Given the description of an element on the screen output the (x, y) to click on. 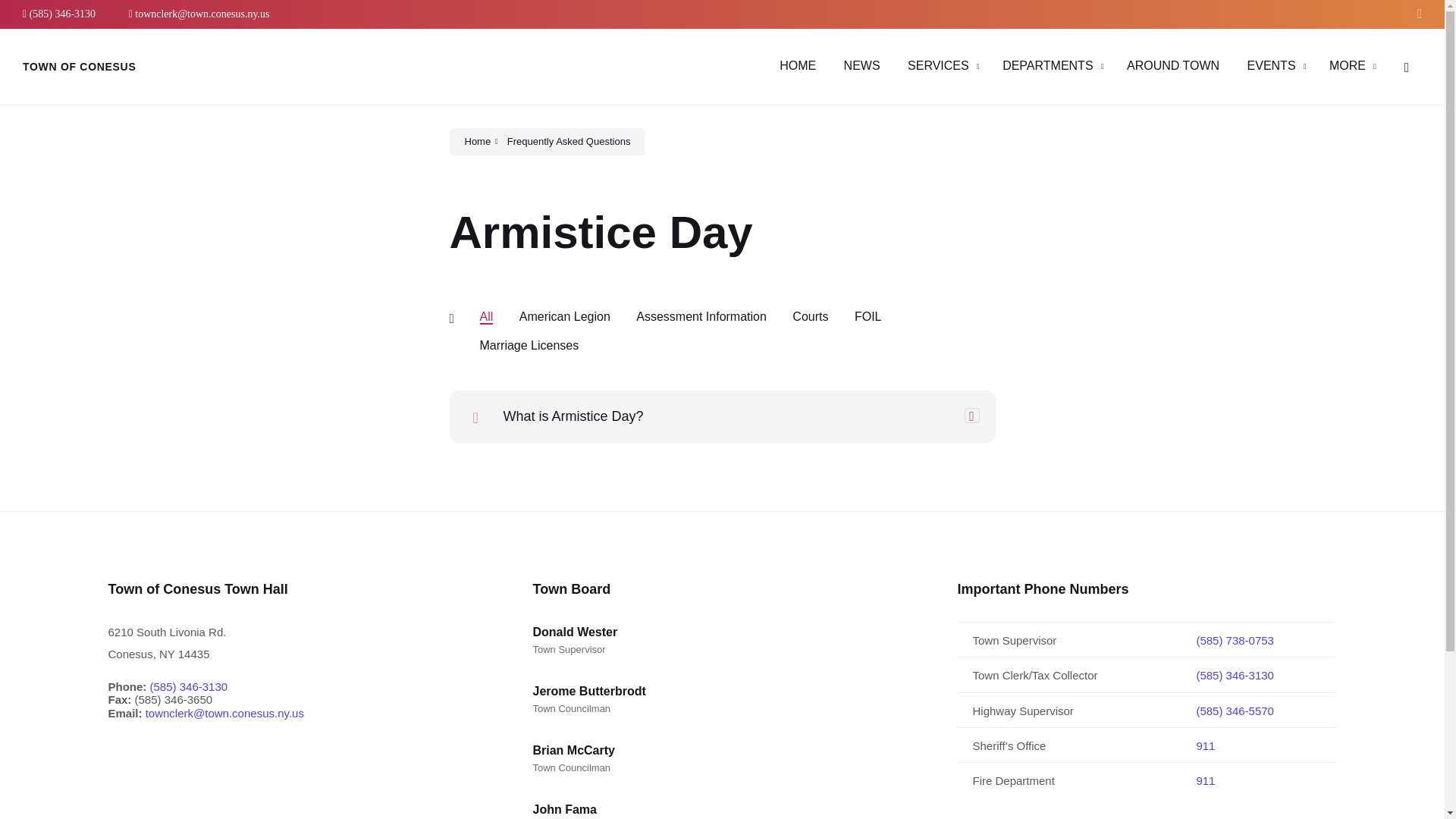
SERVICES (938, 65)
Social Media Links (1414, 14)
NEWS (862, 65)
TOWN OF CONESUS (79, 66)
HOME (796, 65)
